Given the description of an element on the screen output the (x, y) to click on. 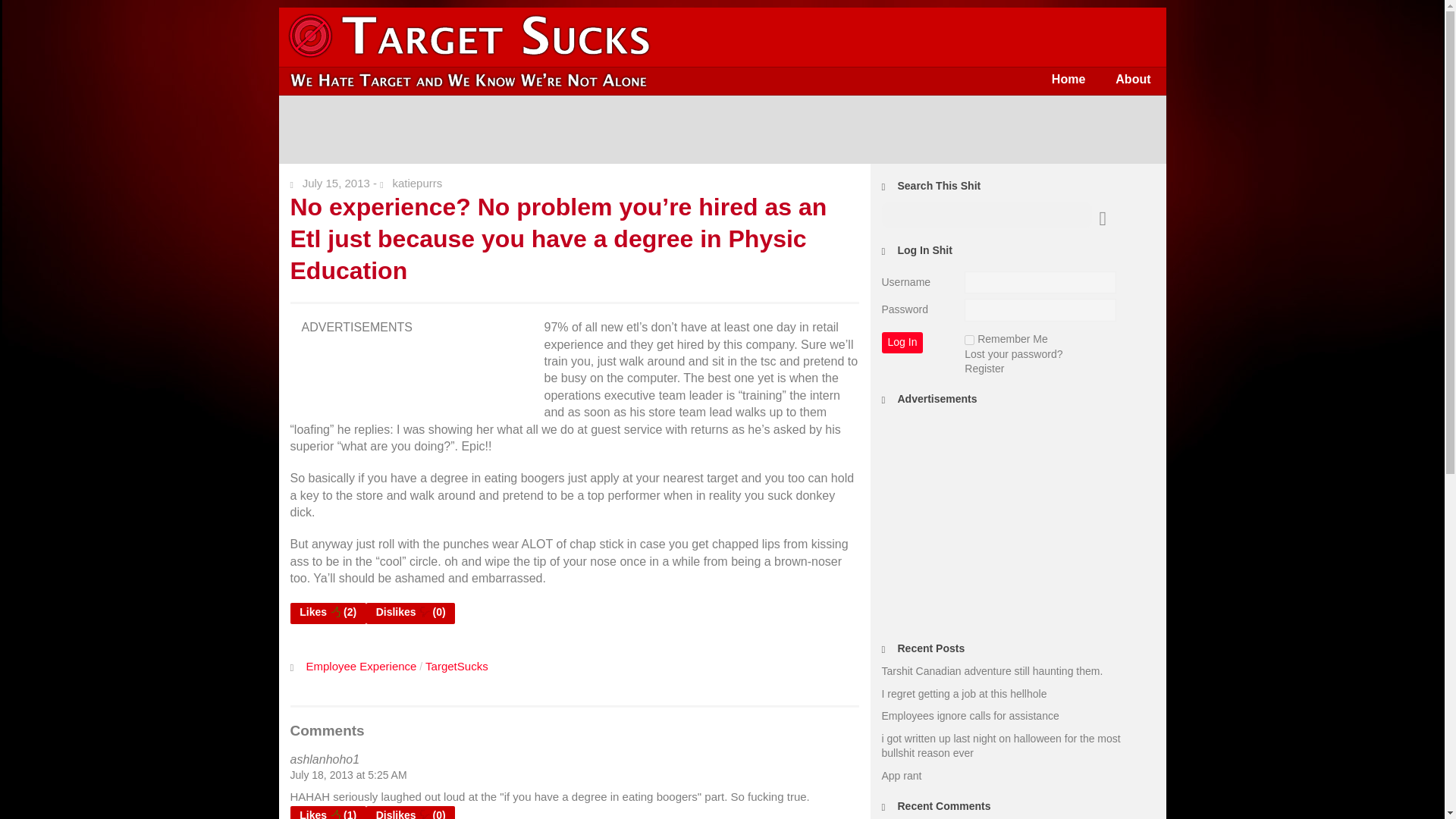
Search (22, 10)
Employees ignore calls for assistance (969, 715)
TargetSucks (456, 666)
App rant (900, 775)
I regret getting a job at this hellhole (963, 693)
Advertisement (722, 129)
Log In (901, 342)
Search for: (986, 215)
About (1132, 79)
Employee Experience (360, 666)
Register (983, 368)
July 18, 2013 at 5:25 AM (347, 775)
Tarshit Canadian adventure still haunting them. (991, 671)
Lost your password? (1012, 354)
